Given the description of an element on the screen output the (x, y) to click on. 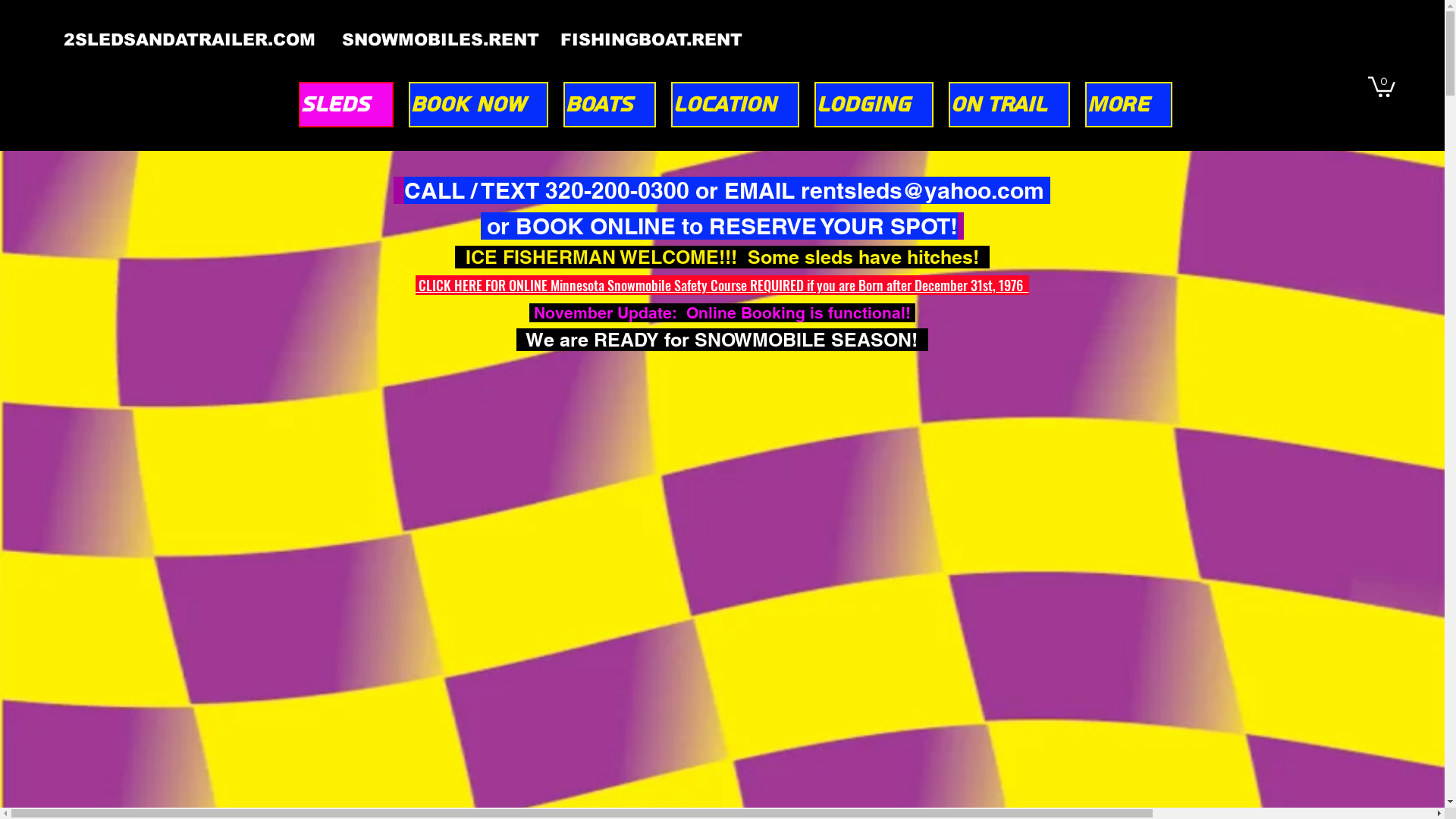
FISHINGBOAT.RENT Element type: text (651, 39)
0 Element type: text (1381, 85)
BOOK NOW Element type: text (477, 104)
Boats Element type: text (608, 104)
Lodging Element type: text (873, 104)
SLEDS Element type: text (345, 104)
On Trail Element type: text (1008, 104)
rentsleds@yahoo.com Element type: text (922, 189)
2SLEDSANDATRAILER.COM     SNOWMOBILES.RENT     Element type: text (311, 39)
Location Element type: text (734, 104)
